Given the description of an element on the screen output the (x, y) to click on. 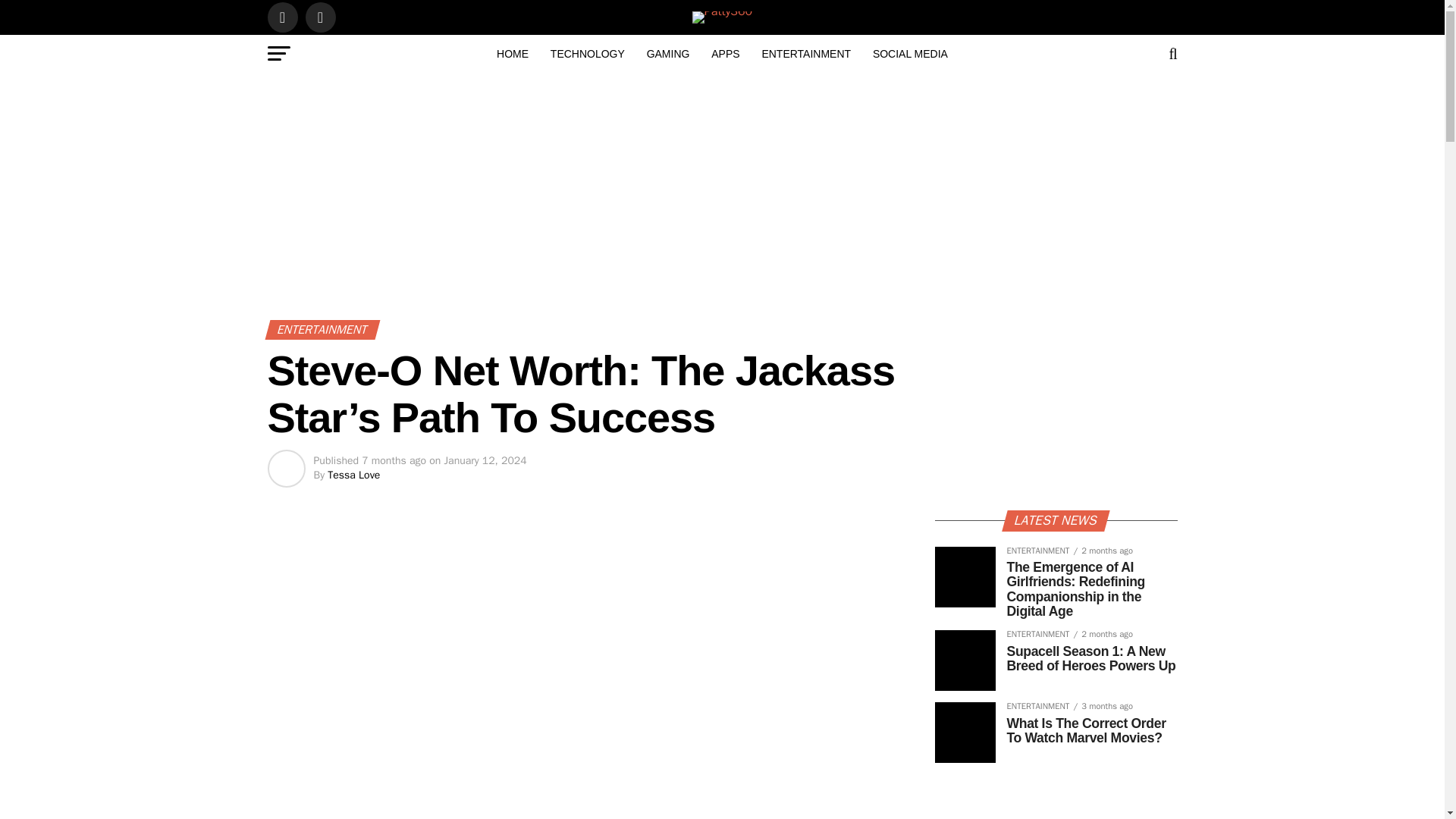
SOCIAL MEDIA (909, 53)
ENTERTAINMENT (806, 53)
APPS (724, 53)
Tessa Love (353, 474)
TECHNOLOGY (587, 53)
GAMING (667, 53)
Posts by Tessa Love (353, 474)
HOME (512, 53)
